Given the description of an element on the screen output the (x, y) to click on. 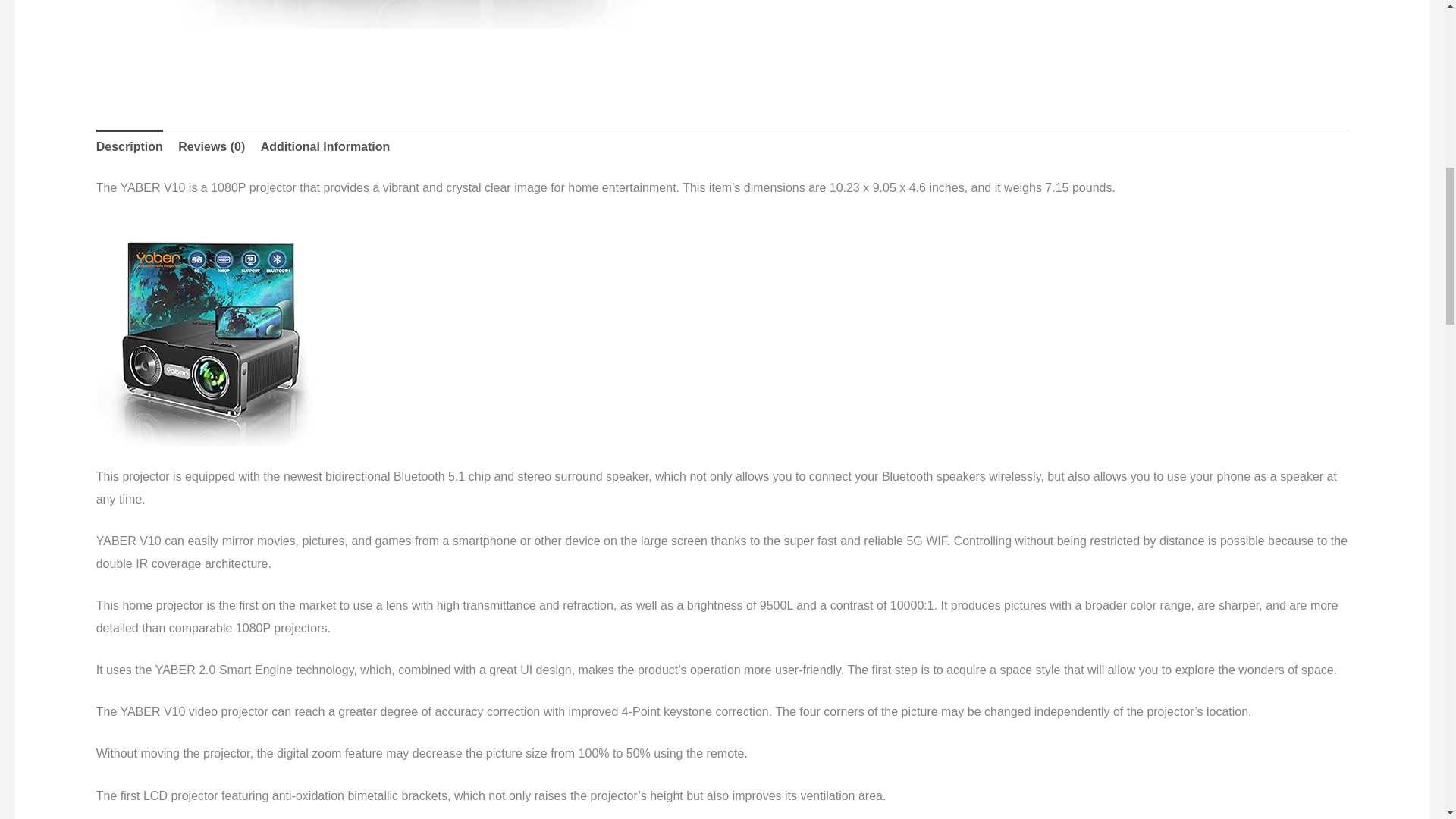
Description (129, 146)
Additional Information (325, 146)
YABER V10 5G Wi-Fi Projector Review (409, 40)
